Given the description of an element on the screen output the (x, y) to click on. 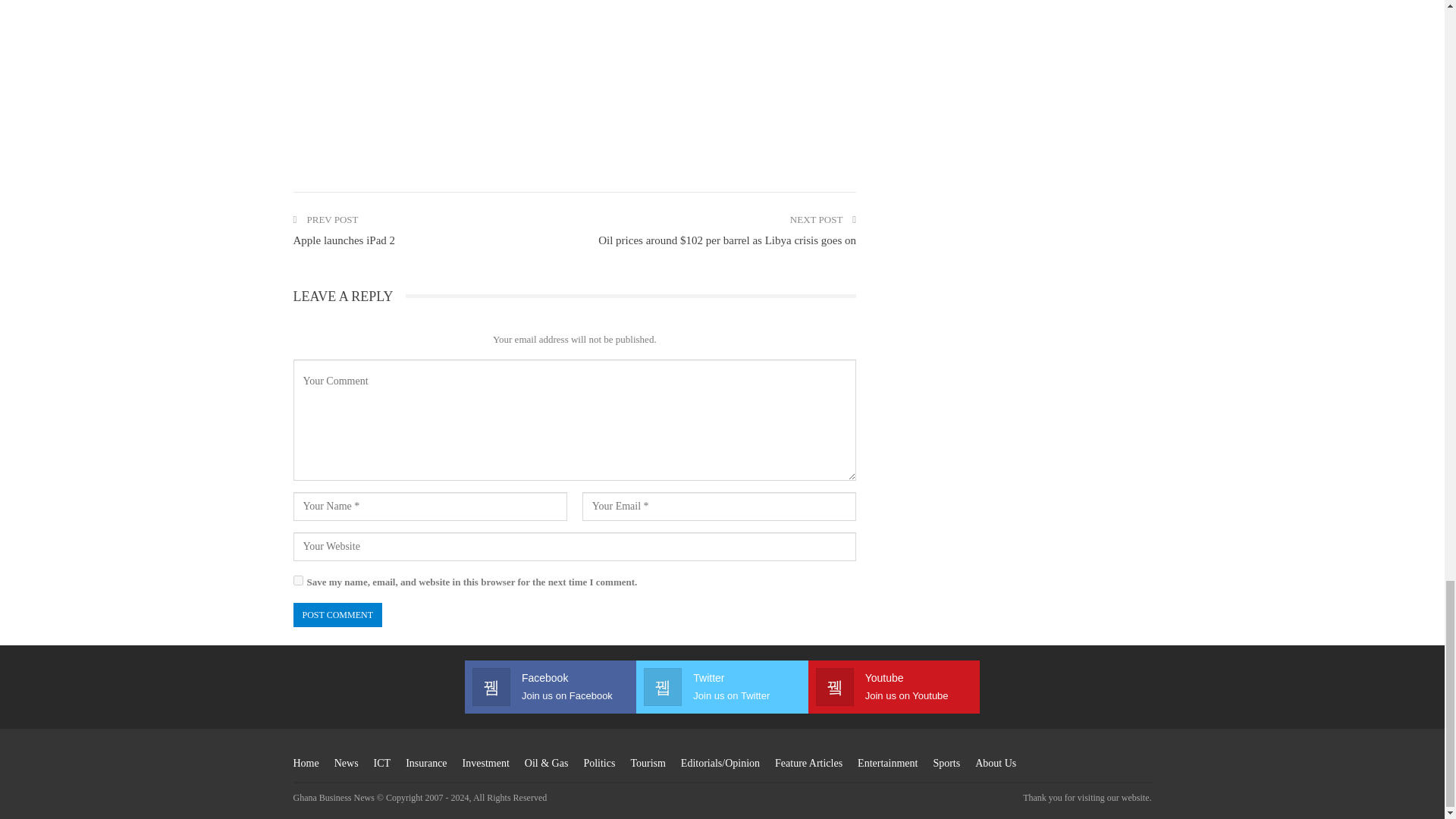
Apple launches iPad 2 (343, 240)
Post Comment (336, 615)
yes (297, 580)
Post Comment (336, 615)
